Given the description of an element on the screen output the (x, y) to click on. 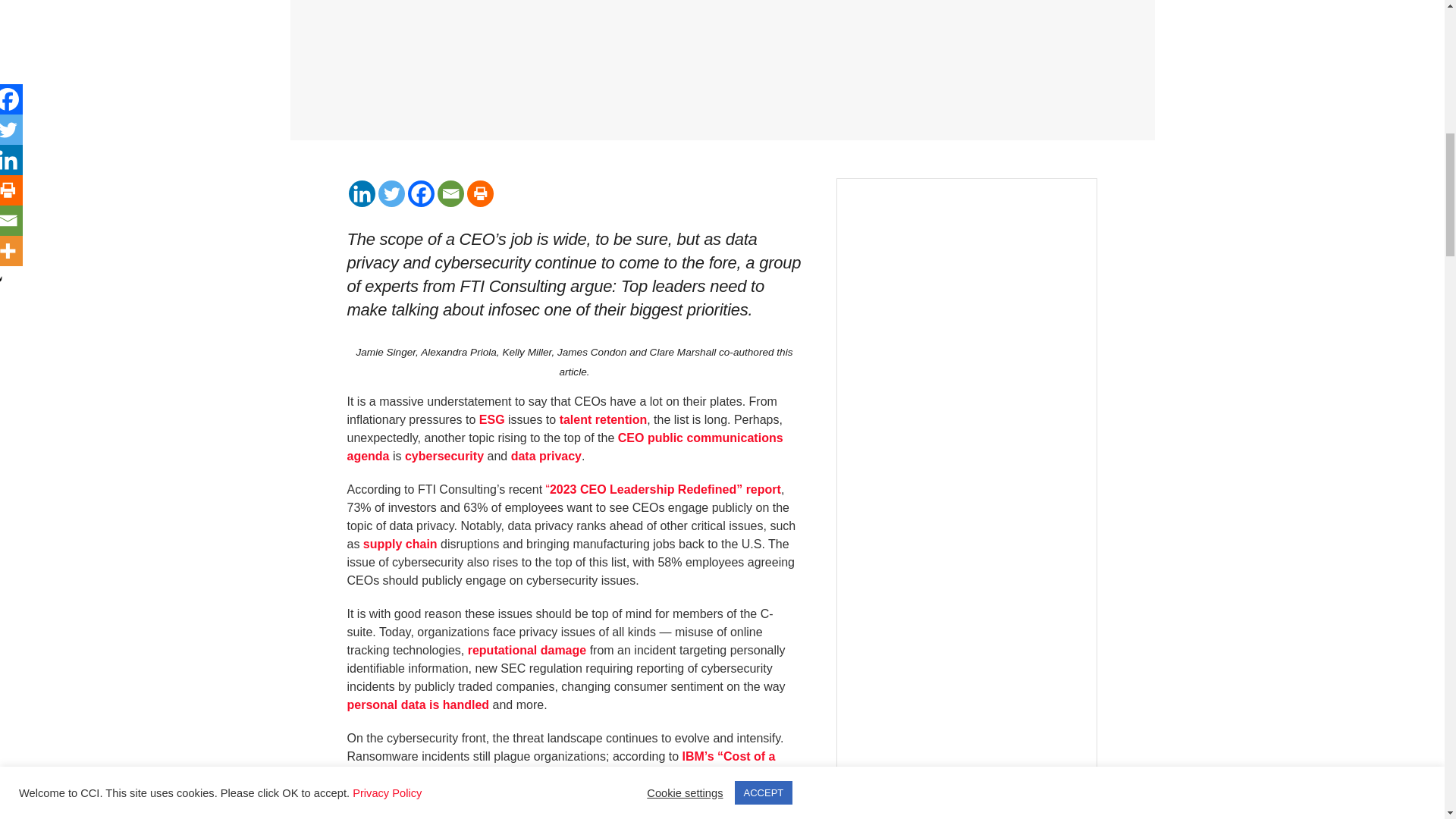
Linkedin (362, 193)
Facebook (420, 193)
Twitter (390, 193)
Email (449, 193)
Print (480, 193)
